Given the description of an element on the screen output the (x, y) to click on. 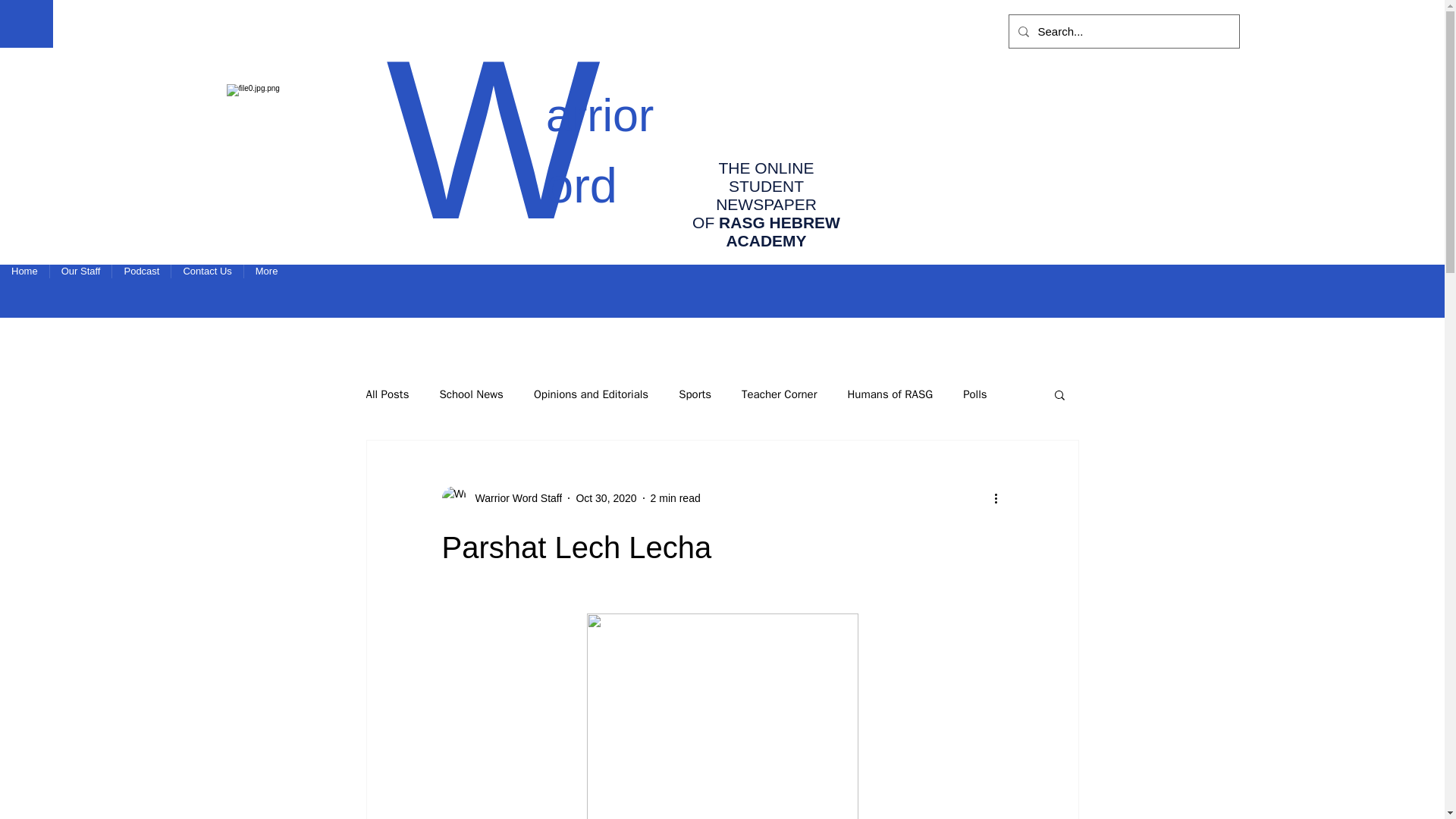
Humans of RASG (890, 393)
Warrior Word Staff (501, 498)
Opinions and Editorials (590, 393)
Podcast (141, 290)
Teacher Corner (778, 393)
Warrior Word Staff (513, 497)
Sports (694, 393)
Home (24, 290)
School News (470, 393)
Oct 30, 2020 (605, 497)
